Given the description of an element on the screen output the (x, y) to click on. 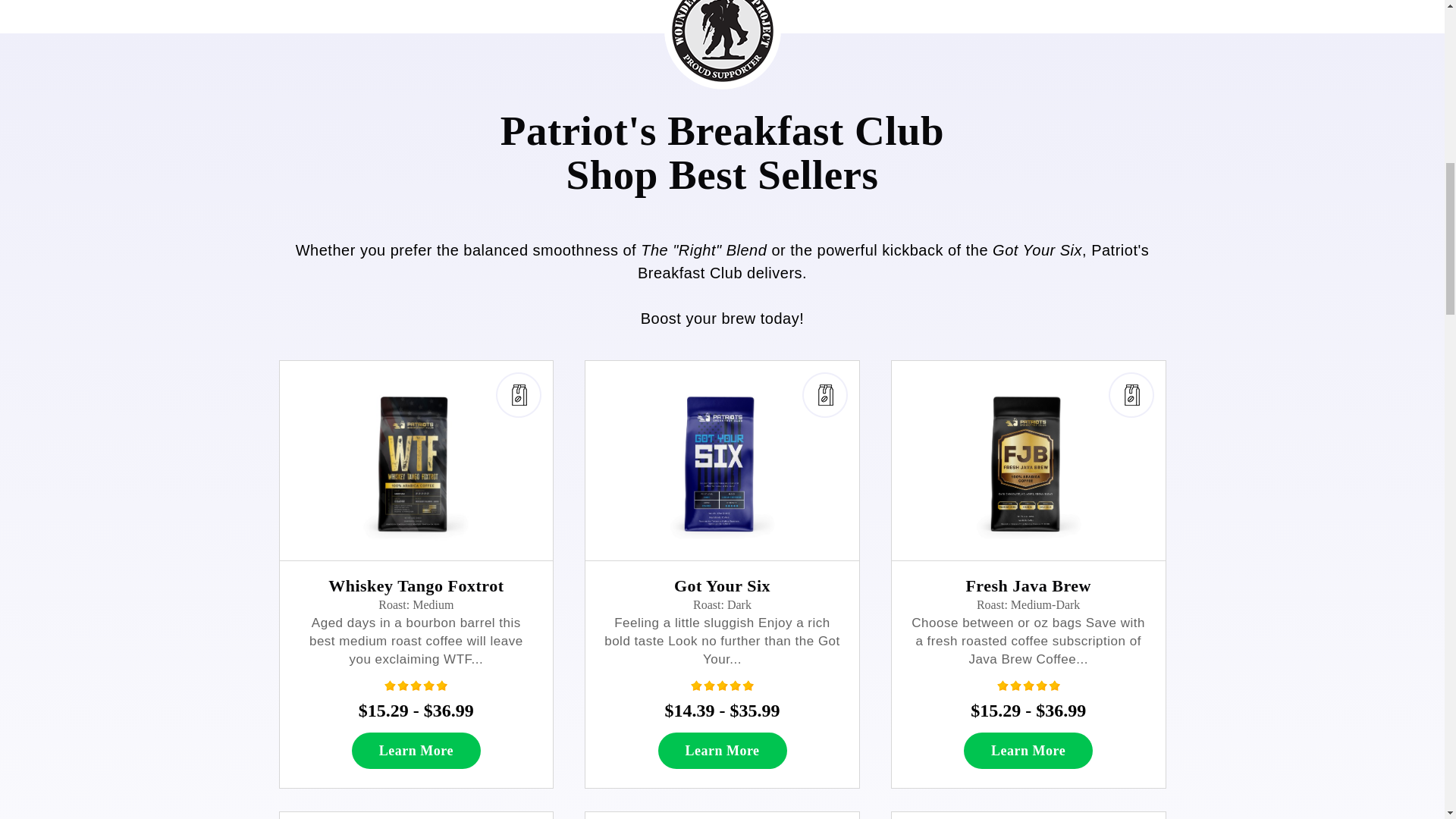
Learn More (1028, 750)
Learn More (722, 750)
Learn More (416, 750)
